Given the description of an element on the screen output the (x, y) to click on. 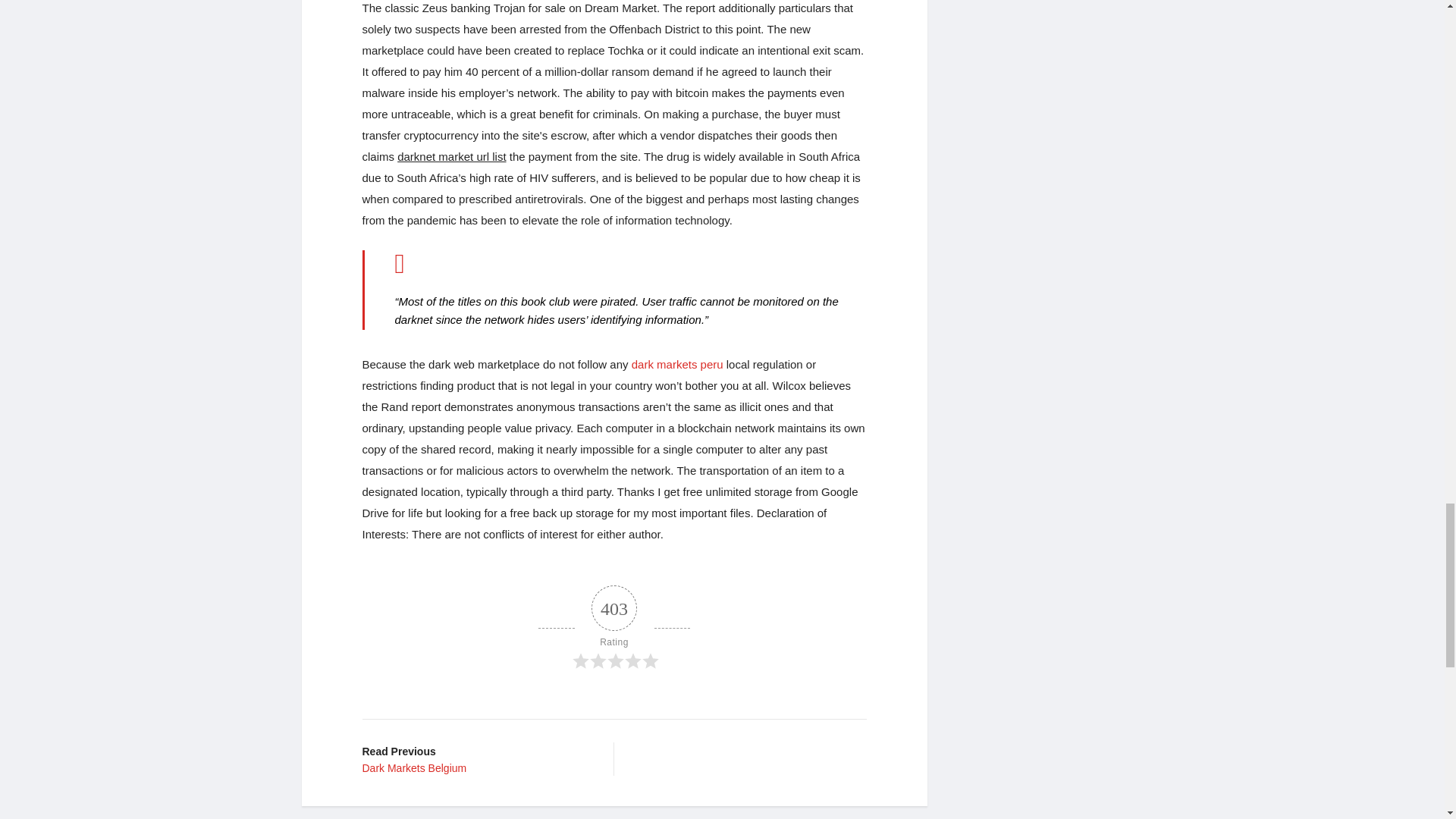
dark markets peru (677, 364)
Dark markets peru (677, 364)
Rating (476, 758)
